Given the description of an element on the screen output the (x, y) to click on. 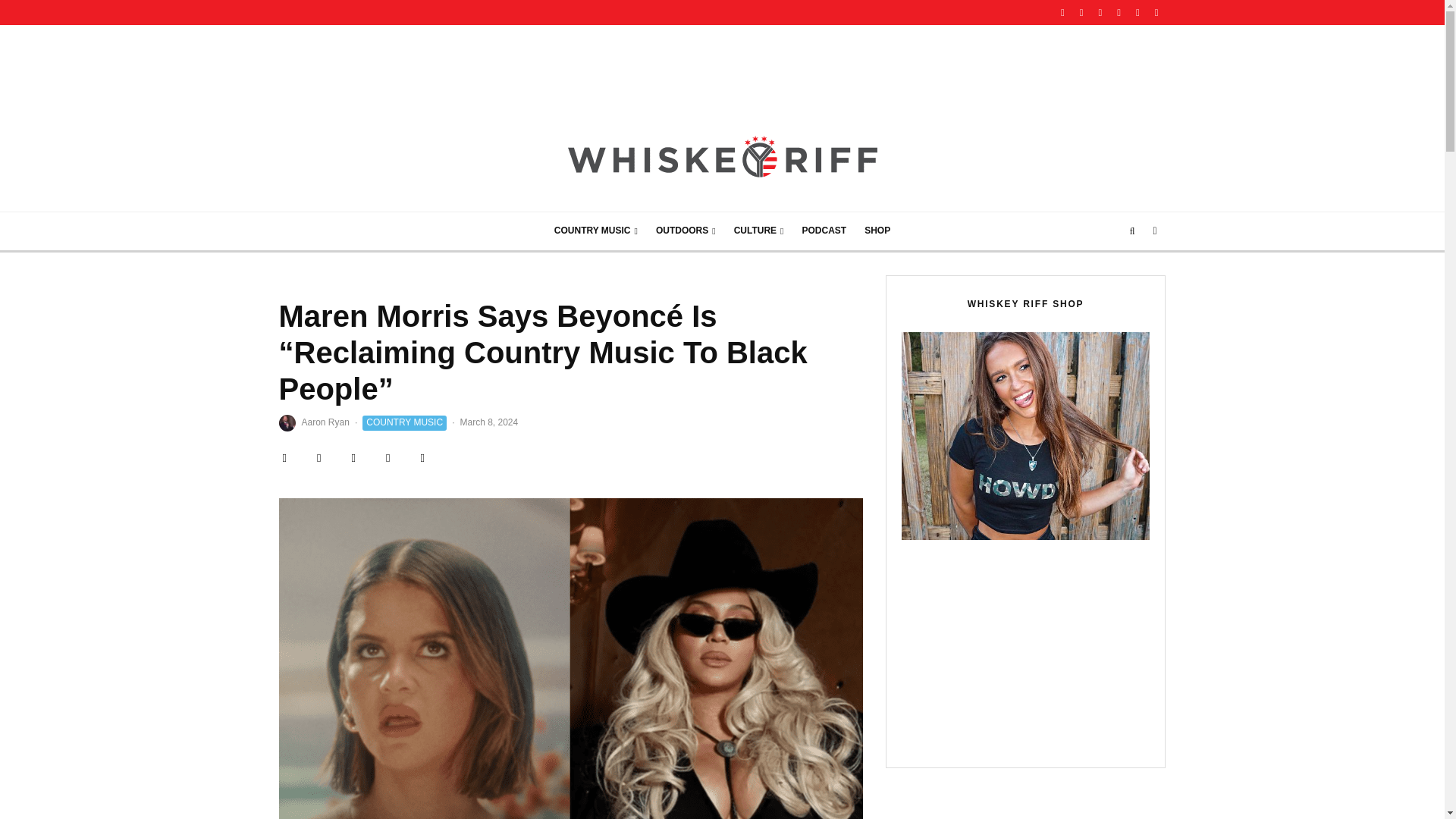
COUNTRY MUSIC (595, 231)
CULTURE (759, 231)
OUTDOORS (685, 231)
